Given the description of an element on the screen output the (x, y) to click on. 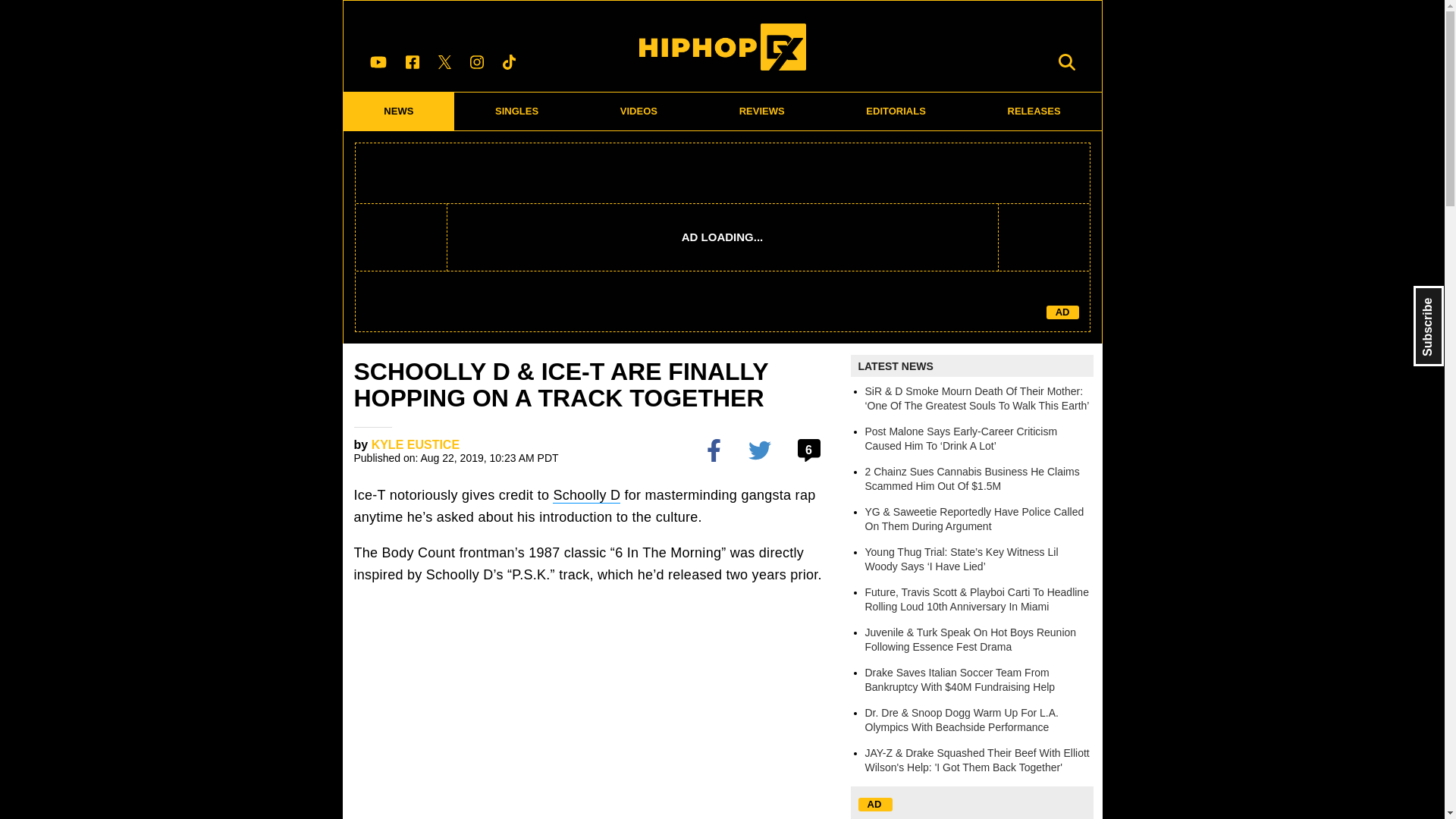
NEWS (398, 111)
KYLE EUSTICE (415, 444)
Schoolly D- PSK, What Does It Mean? (595, 709)
6 (810, 449)
VIDEOS (638, 111)
EDITORIALS (895, 111)
Schoolly D (586, 495)
SINGLES (516, 111)
RELEASES (1034, 111)
REVIEWS (761, 111)
